Given the description of an element on the screen output the (x, y) to click on. 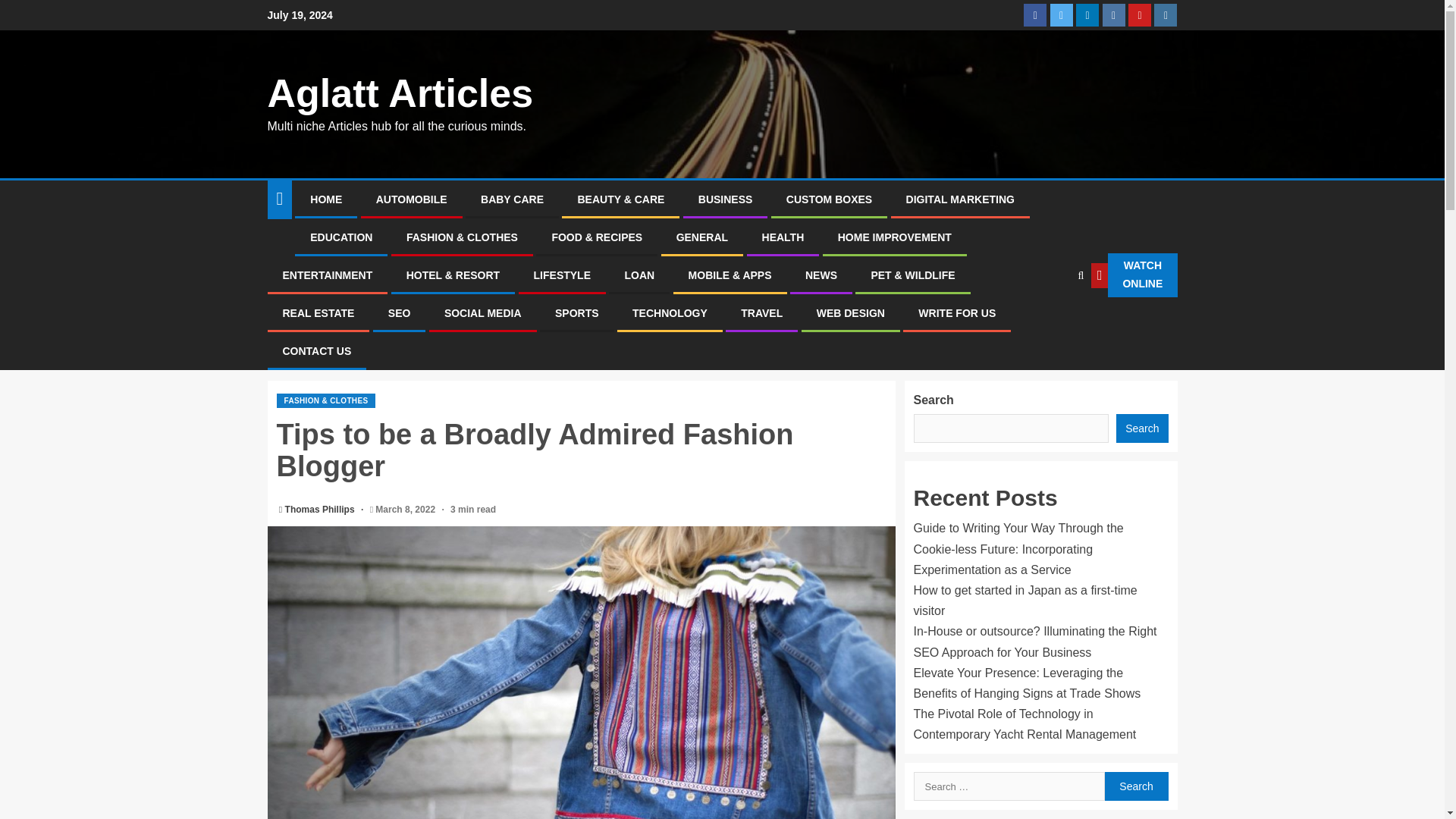
BABY CARE (511, 199)
NEWS (821, 275)
CUSTOM BOXES (829, 199)
HOME IMPROVEMENT (895, 236)
Search (1135, 786)
BUSINESS (725, 199)
HOME (326, 199)
WRITE FOR US (956, 313)
WEB DESIGN (850, 313)
Search (1135, 786)
SEO (399, 313)
GENERAL (702, 236)
TECHNOLOGY (669, 313)
SOCIAL MEDIA (482, 313)
CONTACT US (316, 350)
